Given the description of an element on the screen output the (x, y) to click on. 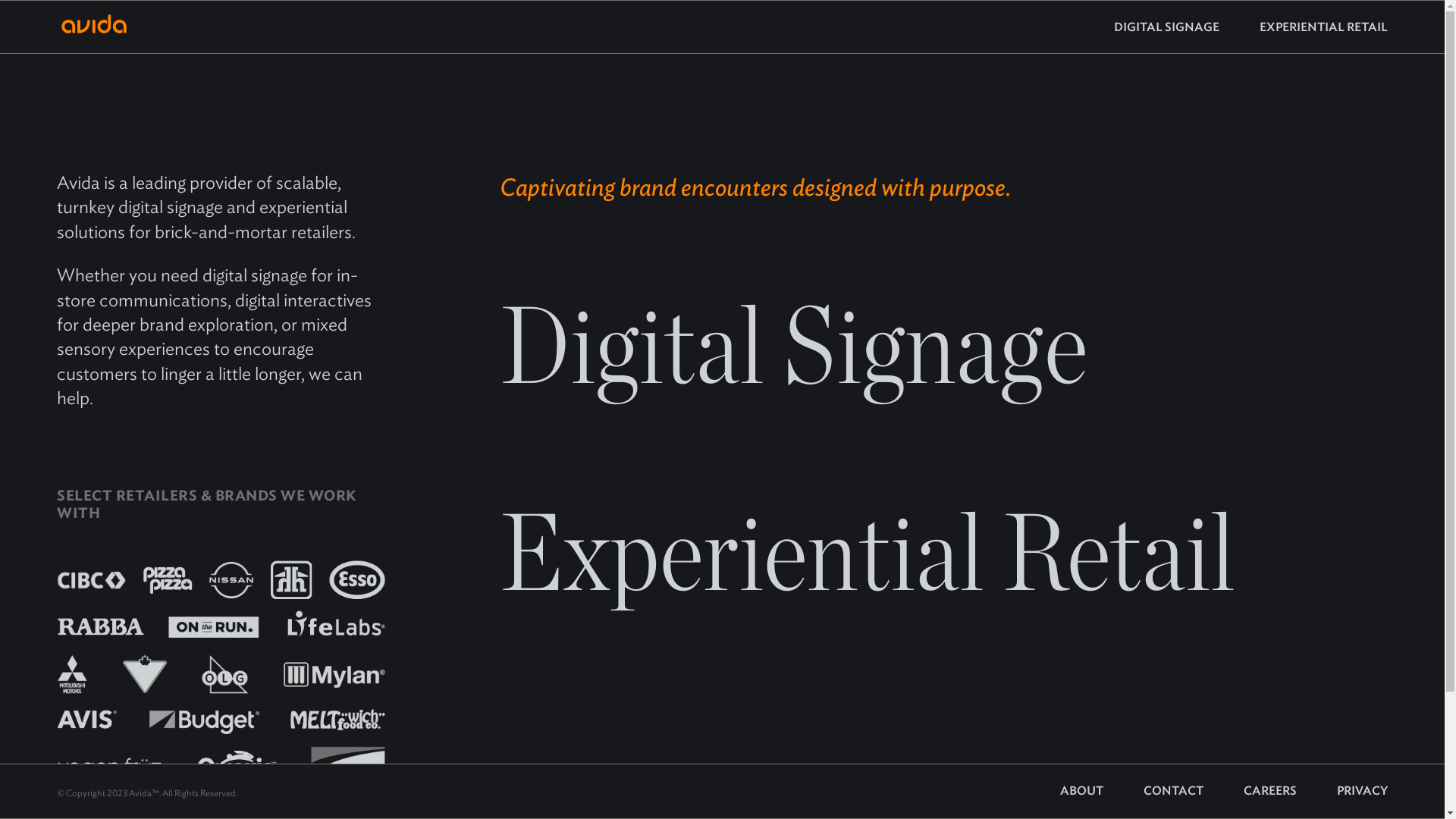
DIGITAL SIGNAGE Element type: text (1166, 26)
ABOUT Element type: text (1081, 790)
CAREERS Element type: text (1250, 790)
PRIVACY Element type: text (1343, 790)
Digital Signage Element type: text (793, 343)
CONTACT Element type: text (1154, 790)
Experiential Retail Element type: text (867, 550)
EXPERIENTIAL RETAIL Element type: text (1304, 26)
